Given the description of an element on the screen output the (x, y) to click on. 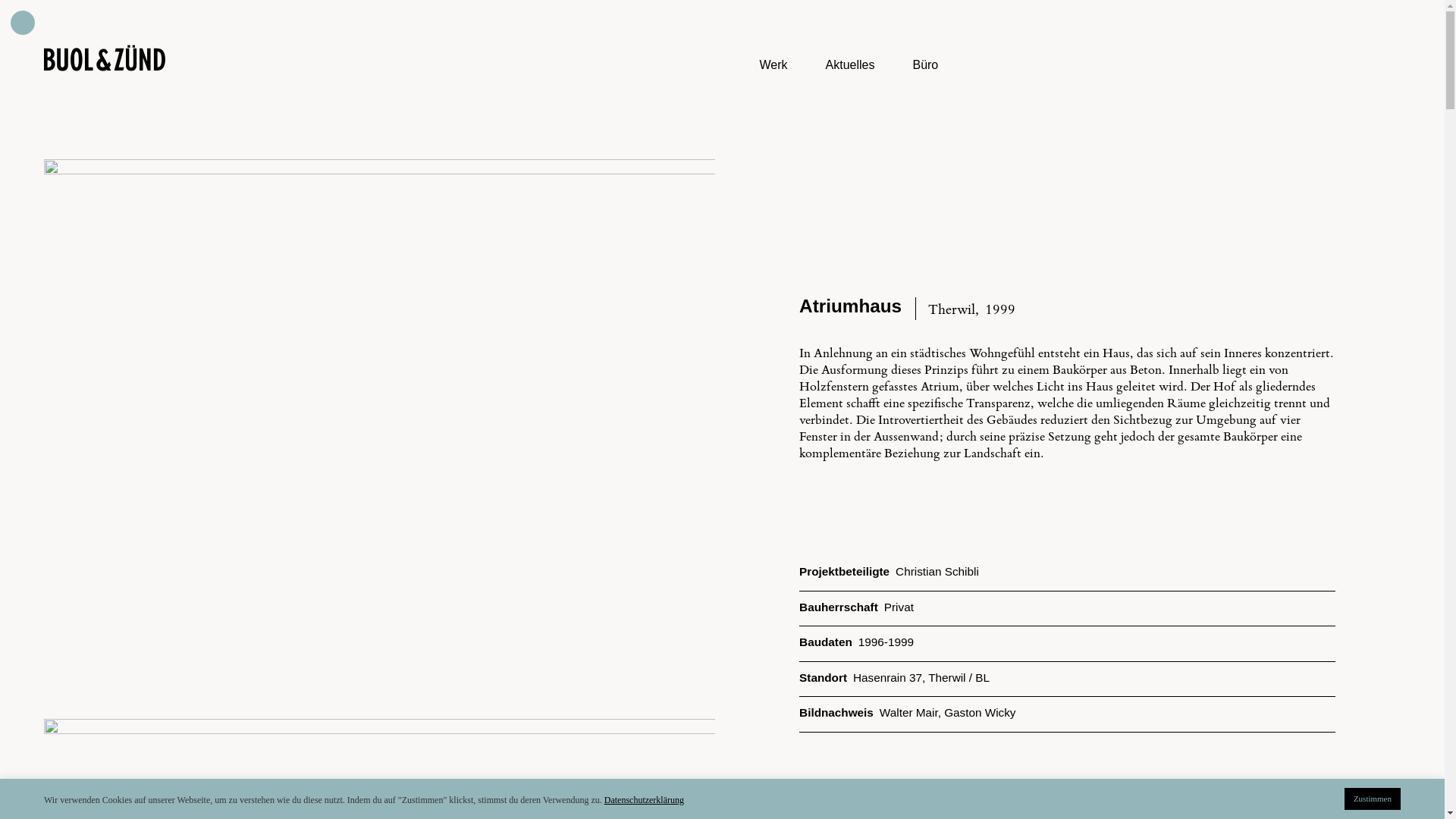
Aktuelles Element type: text (850, 65)
Werk Element type: text (773, 65)
Plandokumentation_ATRIUMHAUS.pdf Element type: text (912, 809)
Zustimmen Element type: text (1372, 798)
